Given the description of an element on the screen output the (x, y) to click on. 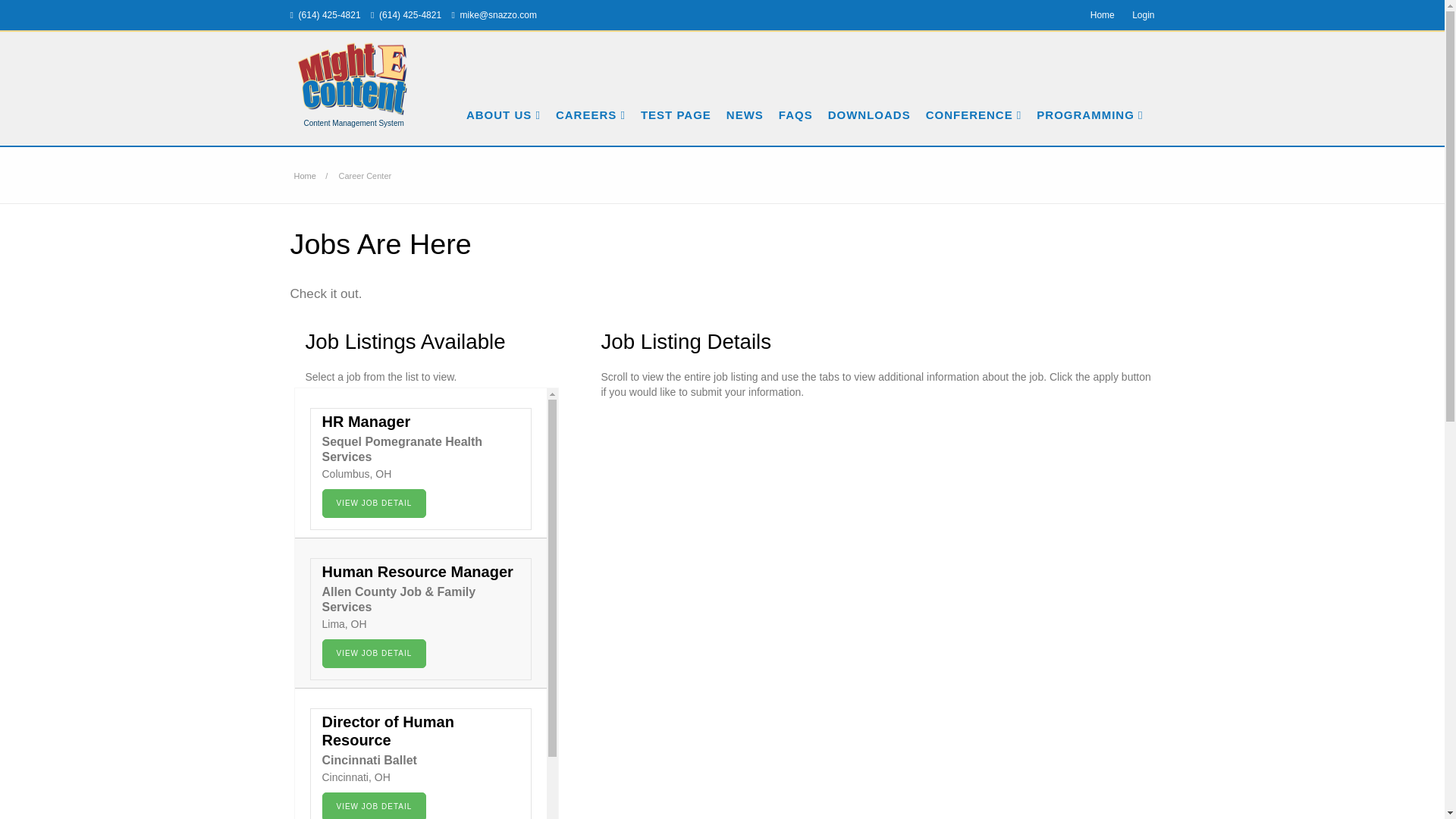
CONFERENCE (977, 95)
ABOUT US (507, 95)
FAQS (799, 95)
Home (304, 175)
TEST PAGE (679, 95)
VIEW JOB DETAIL (373, 805)
DOWNLOADS (872, 95)
Login (1143, 14)
PROGRAMMING (1093, 95)
CAREERS (594, 95)
NEWS (748, 95)
VIEW JOB DETAIL (373, 502)
Home (1106, 14)
VIEW JOB DETAIL (373, 653)
